Given the description of an element on the screen output the (x, y) to click on. 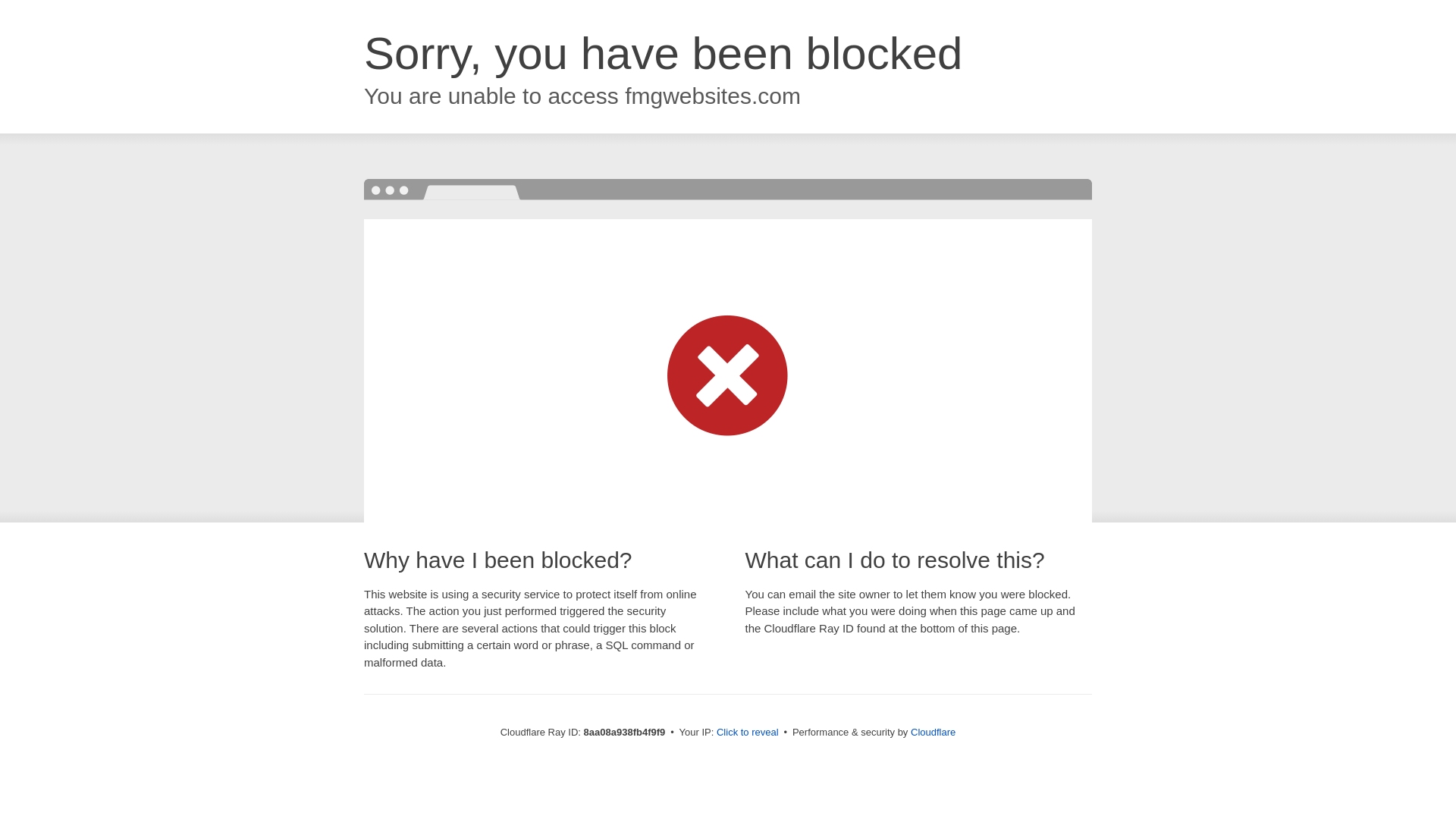
Cloudflare (933, 731)
Click to reveal (747, 732)
